Given the description of an element on the screen output the (x, y) to click on. 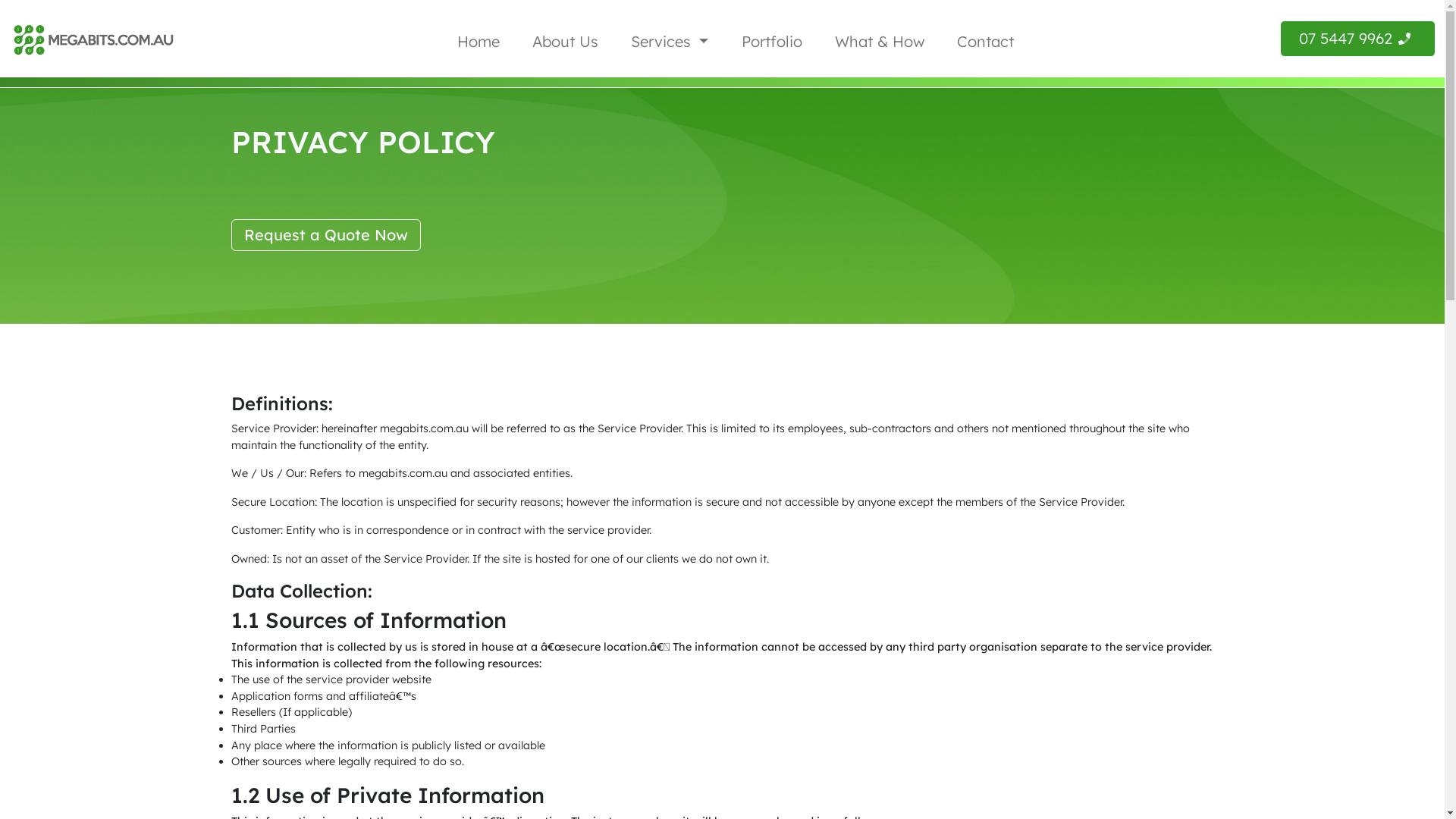
Contact Element type: text (984, 41)
About Us Element type: text (565, 41)
What & How Element type: text (879, 41)
07 5447 9962 Element type: text (1357, 38)
Services Element type: text (669, 41)
Portfolio Element type: text (771, 41)
Request a Quote Now Element type: text (325, 235)
Home Element type: text (478, 41)
